Given the description of an element on the screen output the (x, y) to click on. 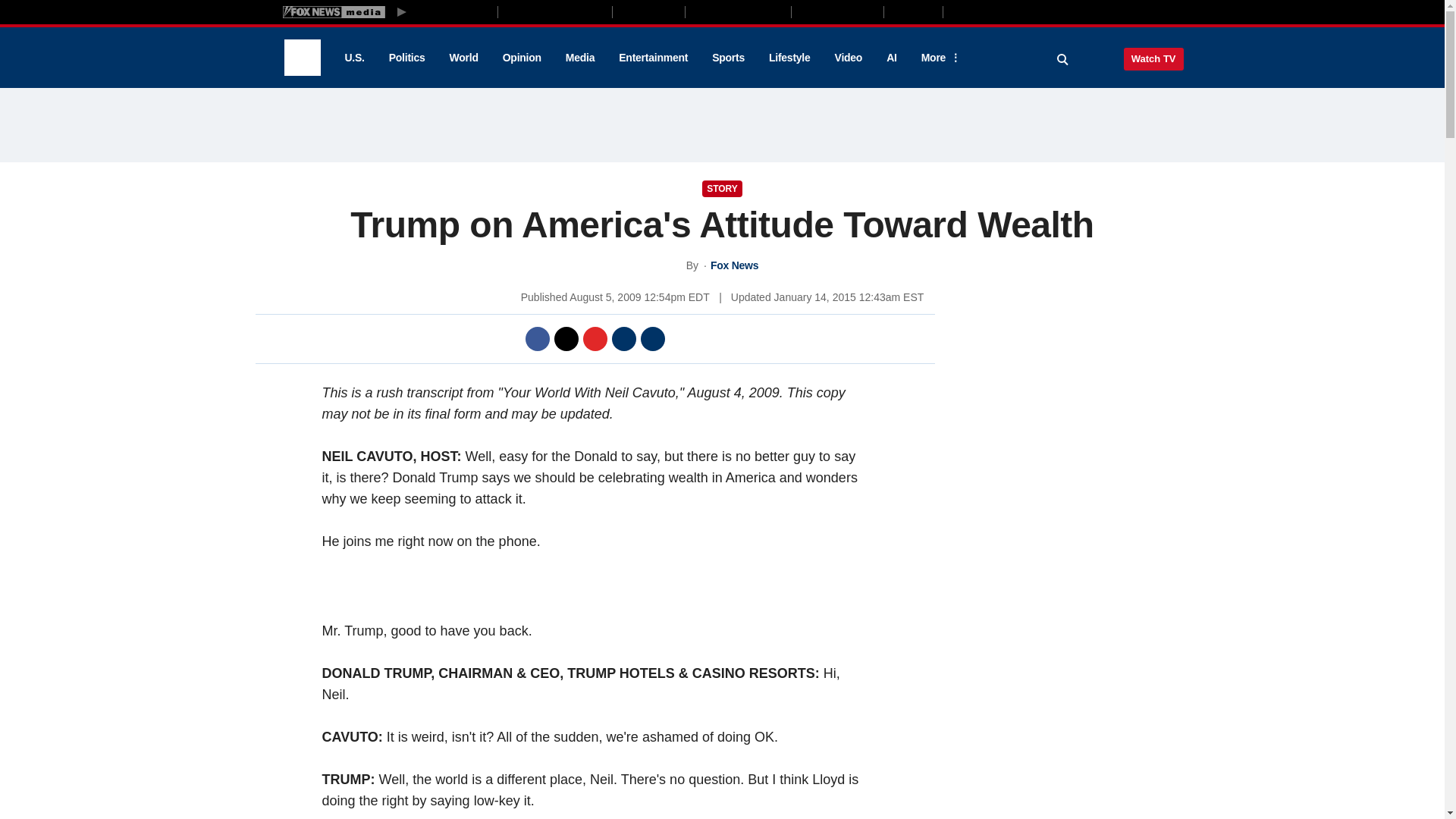
Fox Business (554, 11)
Fox News Media (453, 11)
World (464, 57)
Outkick (912, 11)
Politics (407, 57)
Books (1007, 11)
Fox Nation (648, 11)
Entertainment (653, 57)
Fox News (301, 57)
Fox Weather (836, 11)
